Given the description of an element on the screen output the (x, y) to click on. 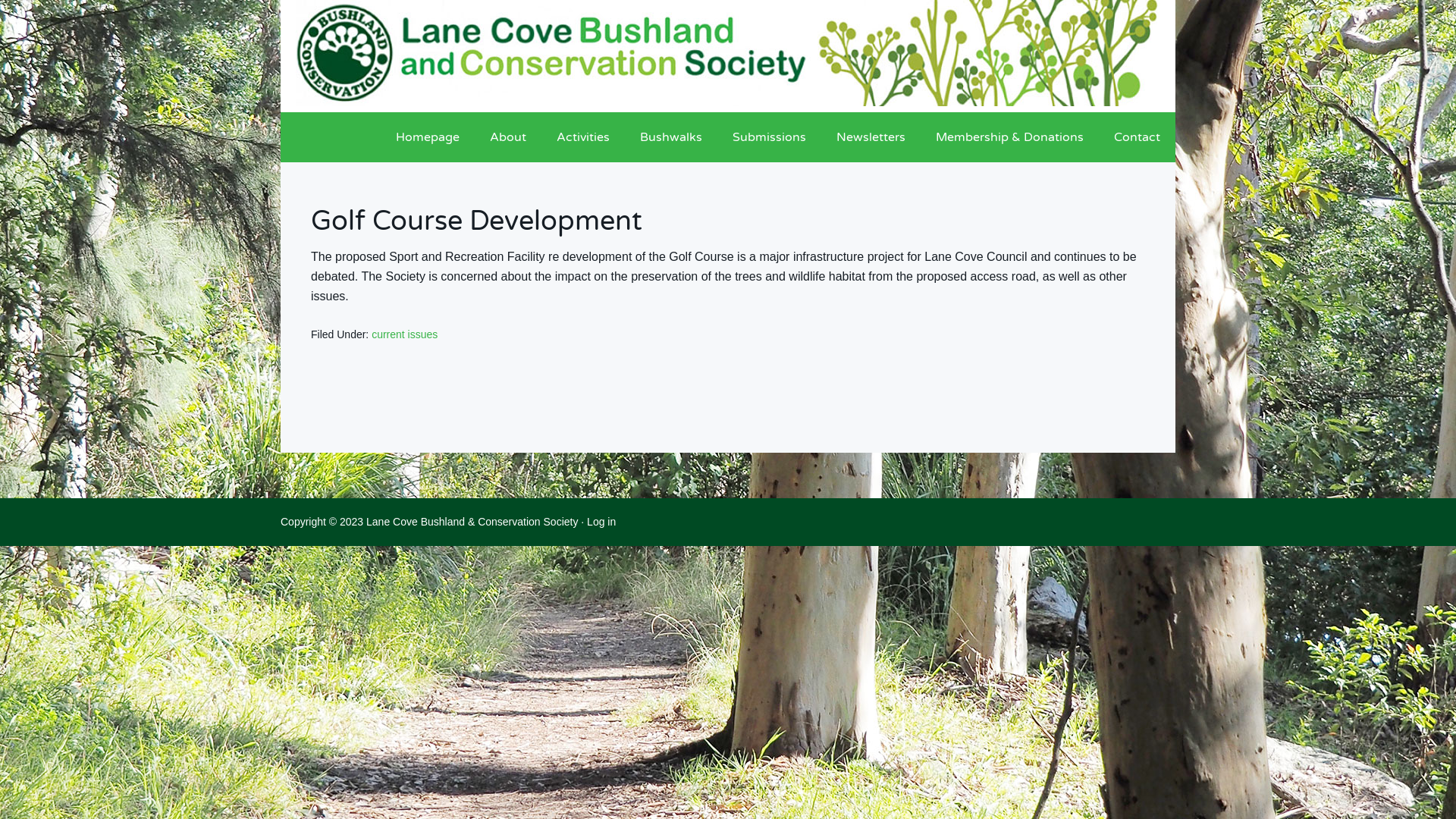
Newsletters Element type: text (870, 137)
About Element type: text (507, 137)
Membership & Donations Element type: text (1009, 137)
Homepage Element type: text (427, 137)
current issues Element type: text (404, 334)
Submissions Element type: text (769, 137)
Log in Element type: text (600, 521)
Bushwalks Element type: text (670, 137)
Activities Element type: text (582, 137)
Contact Element type: text (1136, 137)
Skip to main content Element type: text (0, 0)
